Given the description of an element on the screen output the (x, y) to click on. 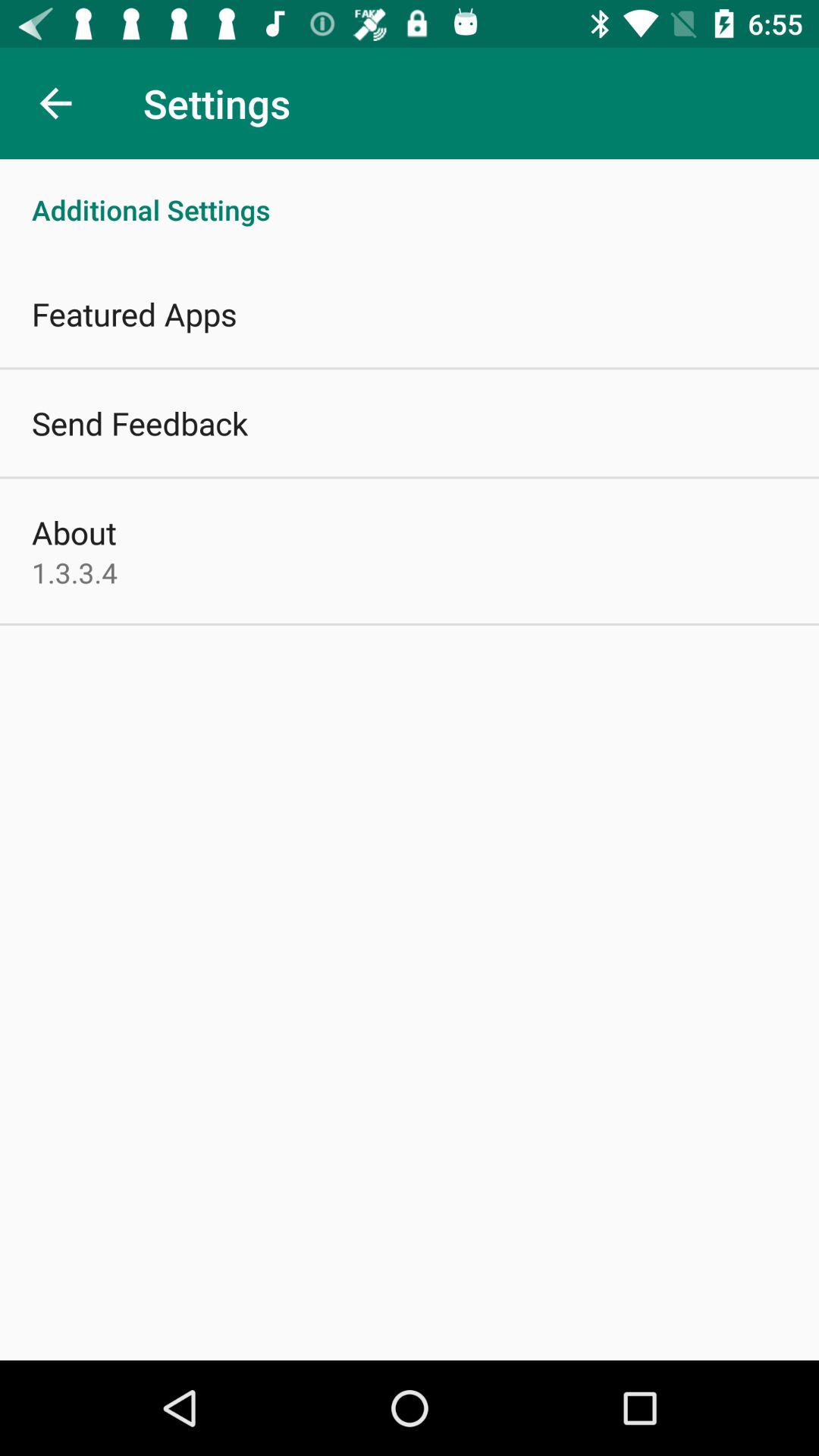
launch icon next to settings item (55, 103)
